Given the description of an element on the screen output the (x, y) to click on. 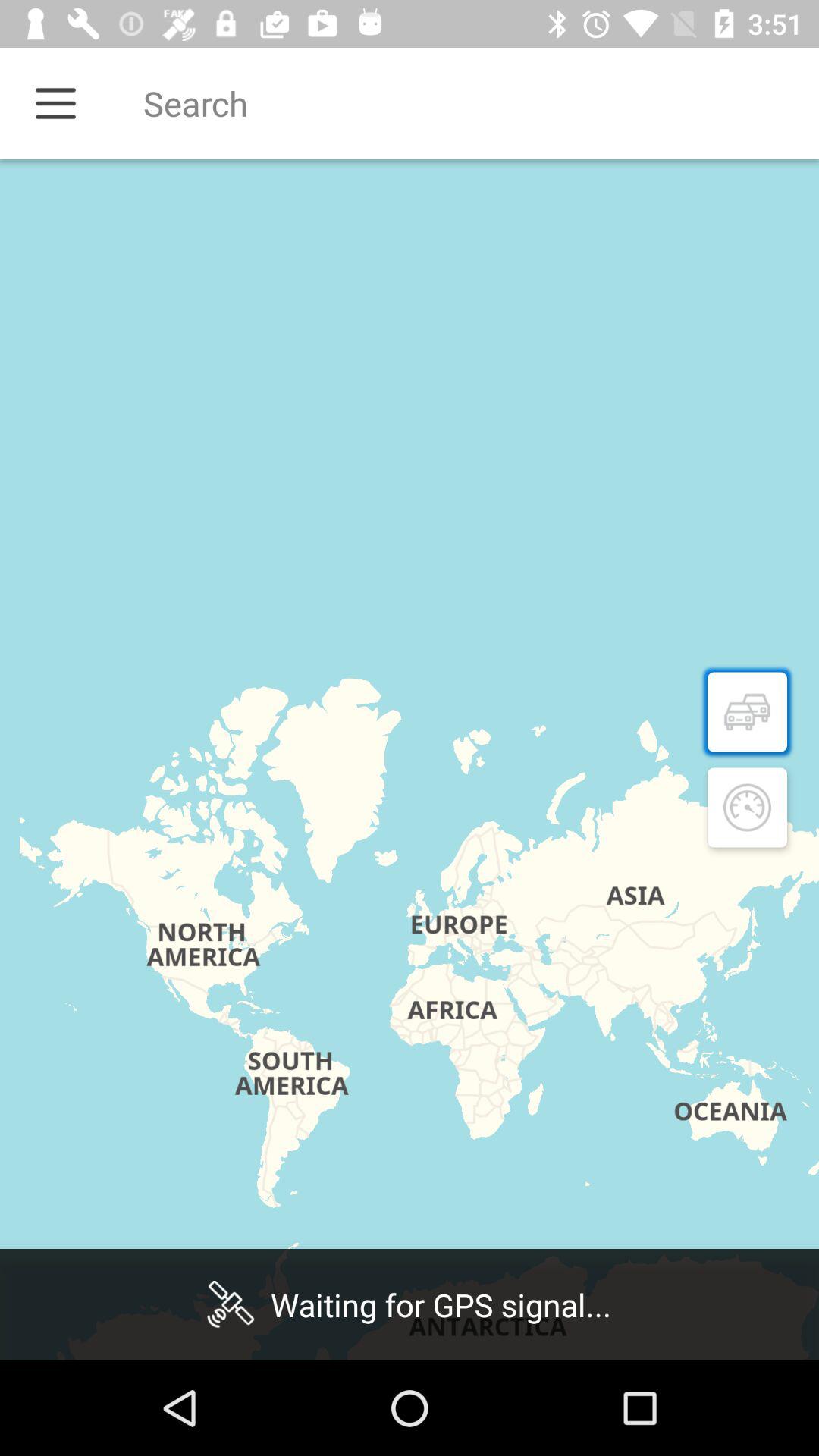
menu option (55, 103)
